Given the description of an element on the screen output the (x, y) to click on. 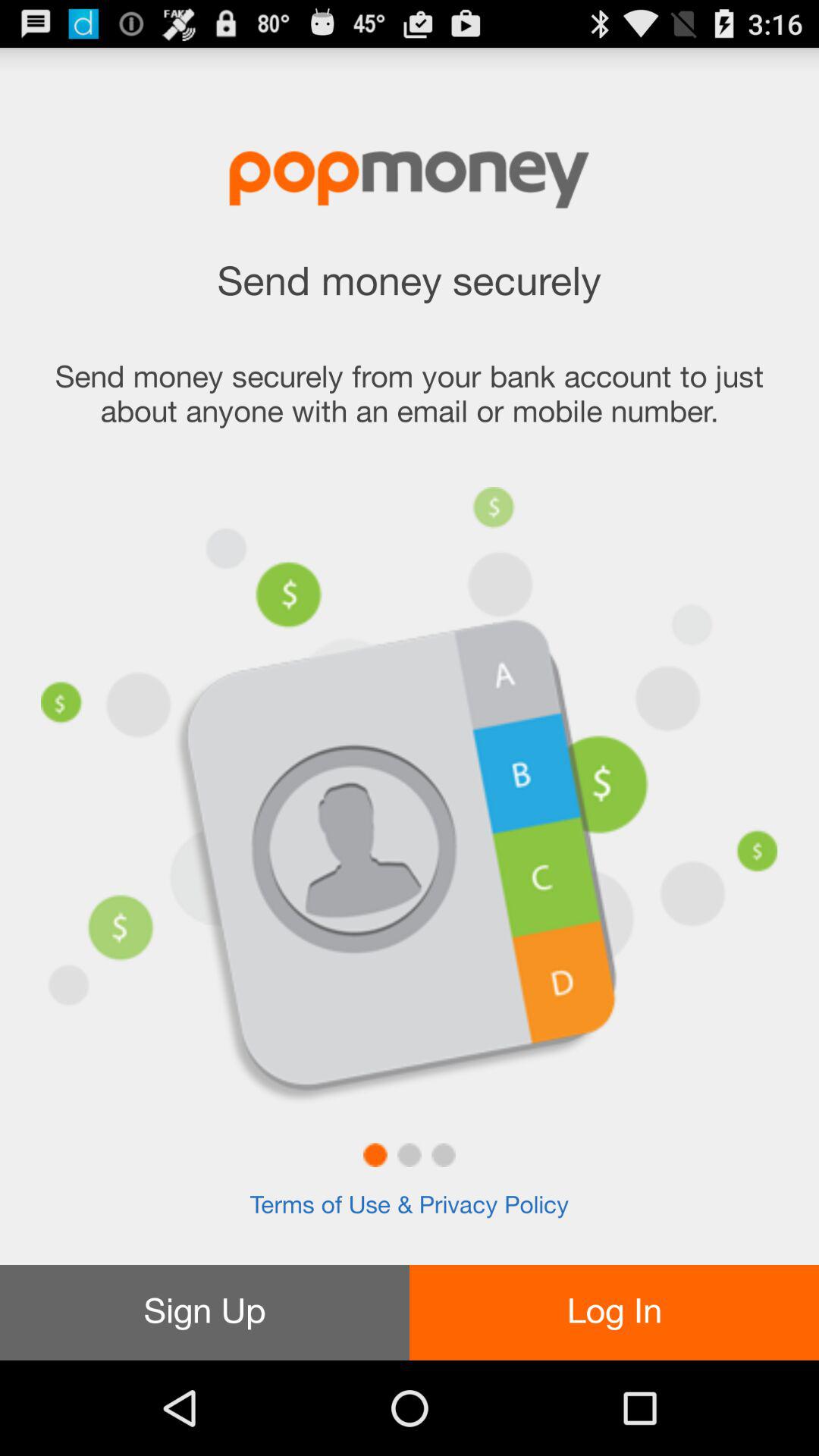
turn off sign up icon (204, 1312)
